Given the description of an element on the screen output the (x, y) to click on. 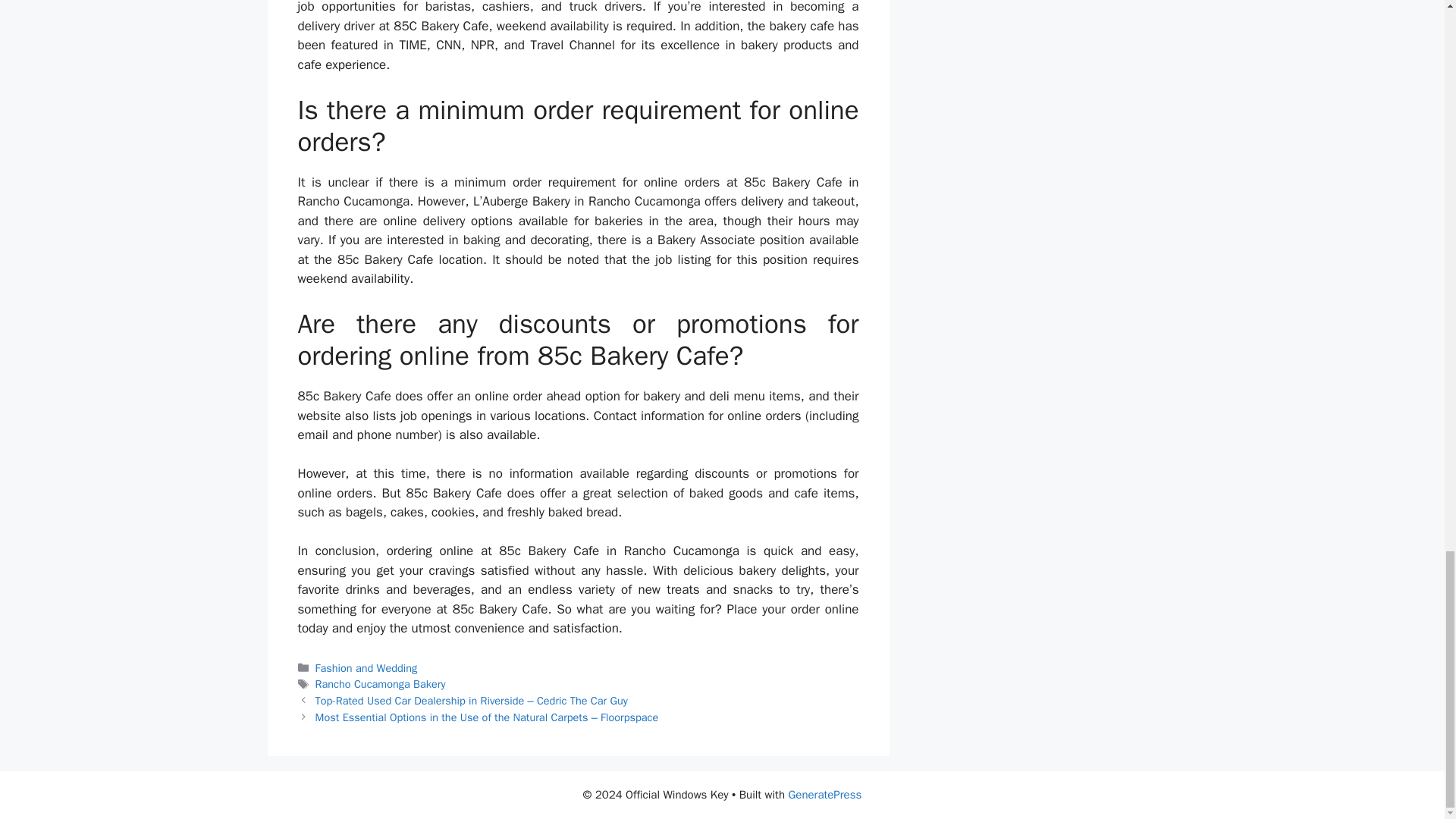
Rancho Cucamonga Bakery (380, 684)
Fashion and Wedding (366, 667)
